Given the description of an element on the screen output the (x, y) to click on. 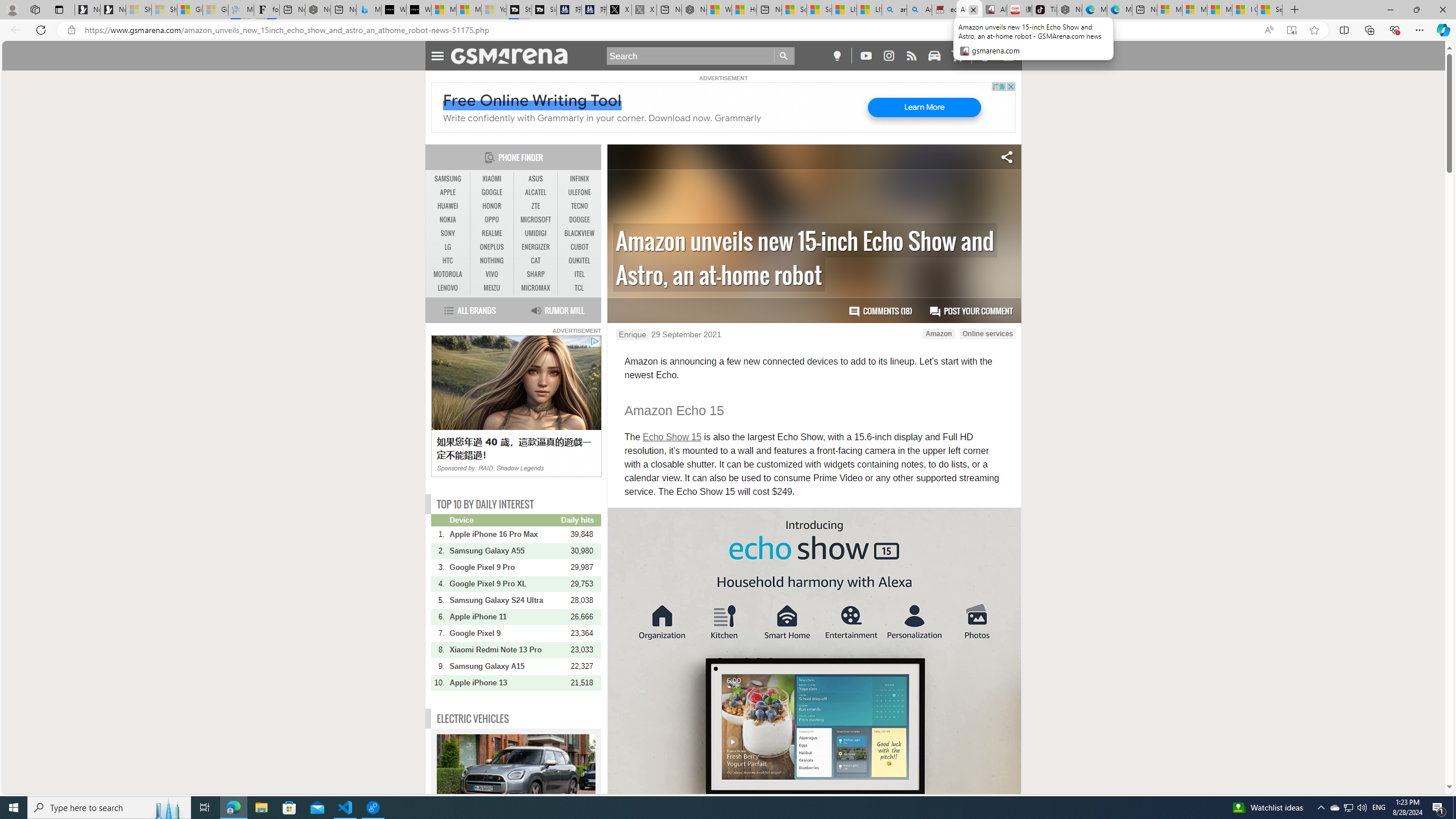
MEIZU (491, 287)
Go (784, 55)
APPLE (448, 192)
Samsung Galaxy S24 Ultra (504, 600)
ZTE (535, 205)
Amazon (939, 333)
ONEPLUS (491, 246)
HONOR (491, 206)
